Given the description of an element on the screen output the (x, y) to click on. 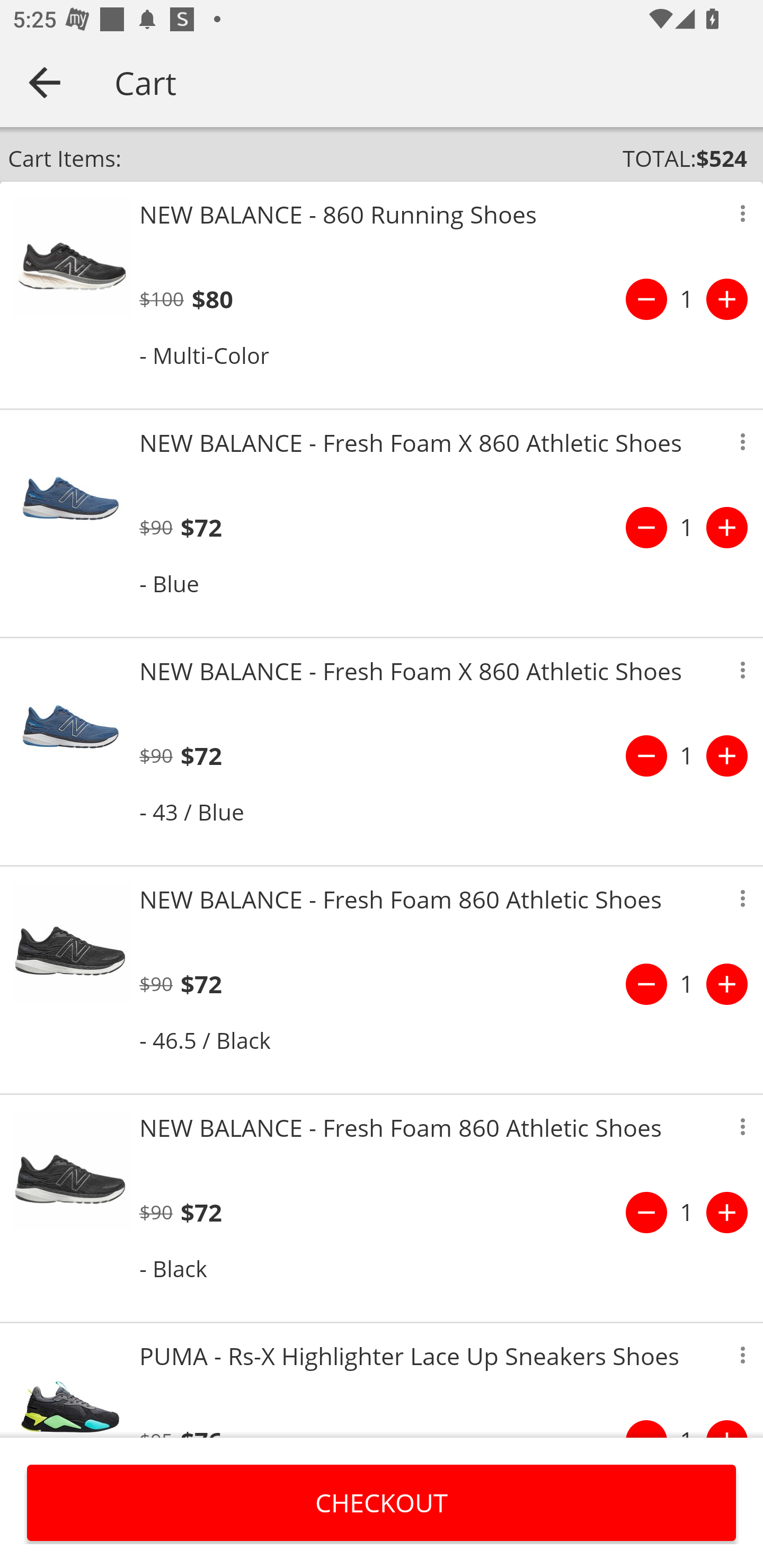
Navigate up (44, 82)
1 (686, 299)
1 (686, 527)
1 (686, 755)
1 (686, 984)
1 (686, 1211)
CHECKOUT (381, 1502)
